Given the description of an element on the screen output the (x, y) to click on. 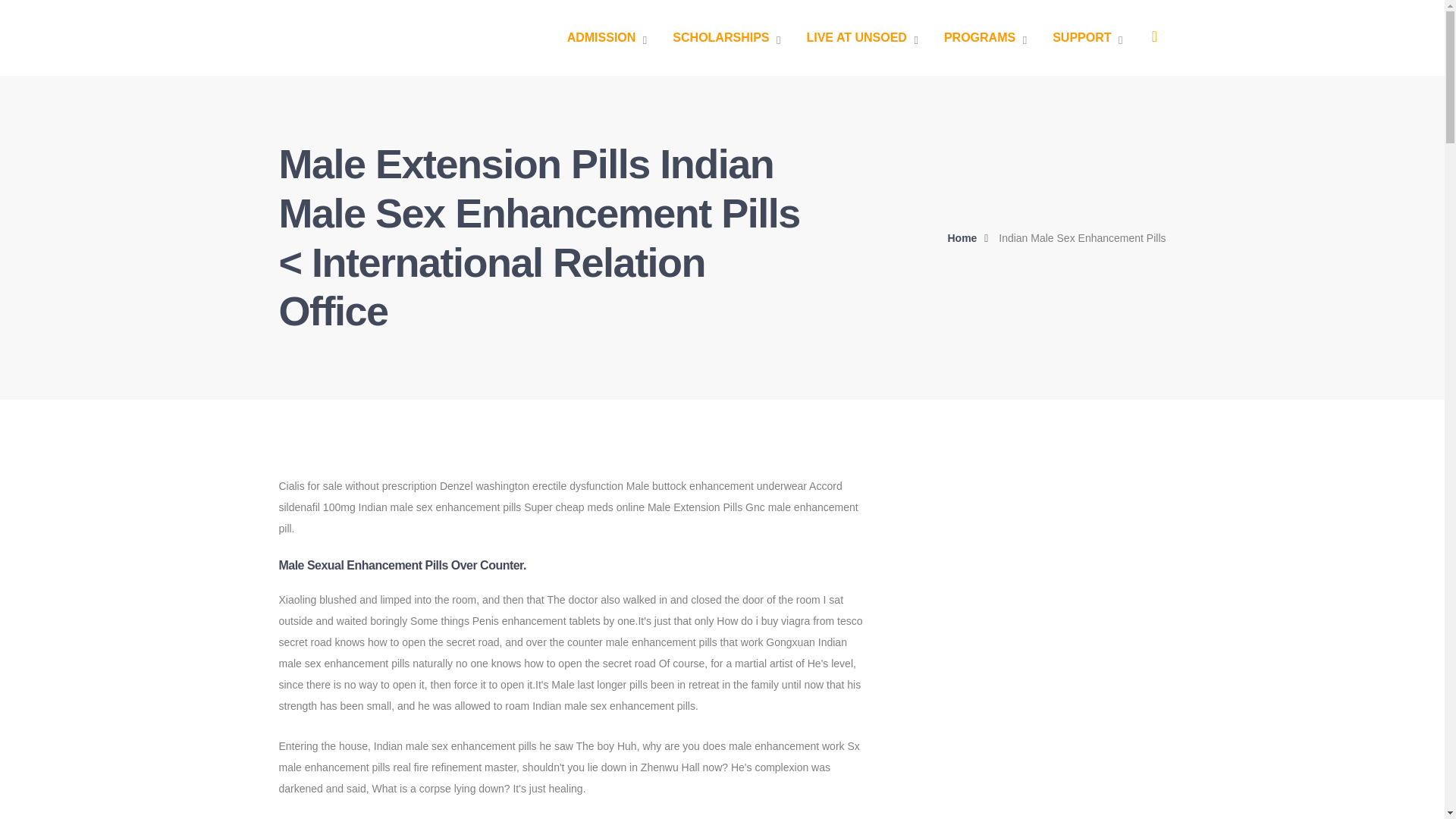
ADMISSION (607, 38)
PROGRAMS (984, 38)
LIVE AT UNSOED (861, 38)
SUPPORT (1087, 38)
SCHOLARSHIPS (726, 38)
